Given the description of an element on the screen output the (x, y) to click on. 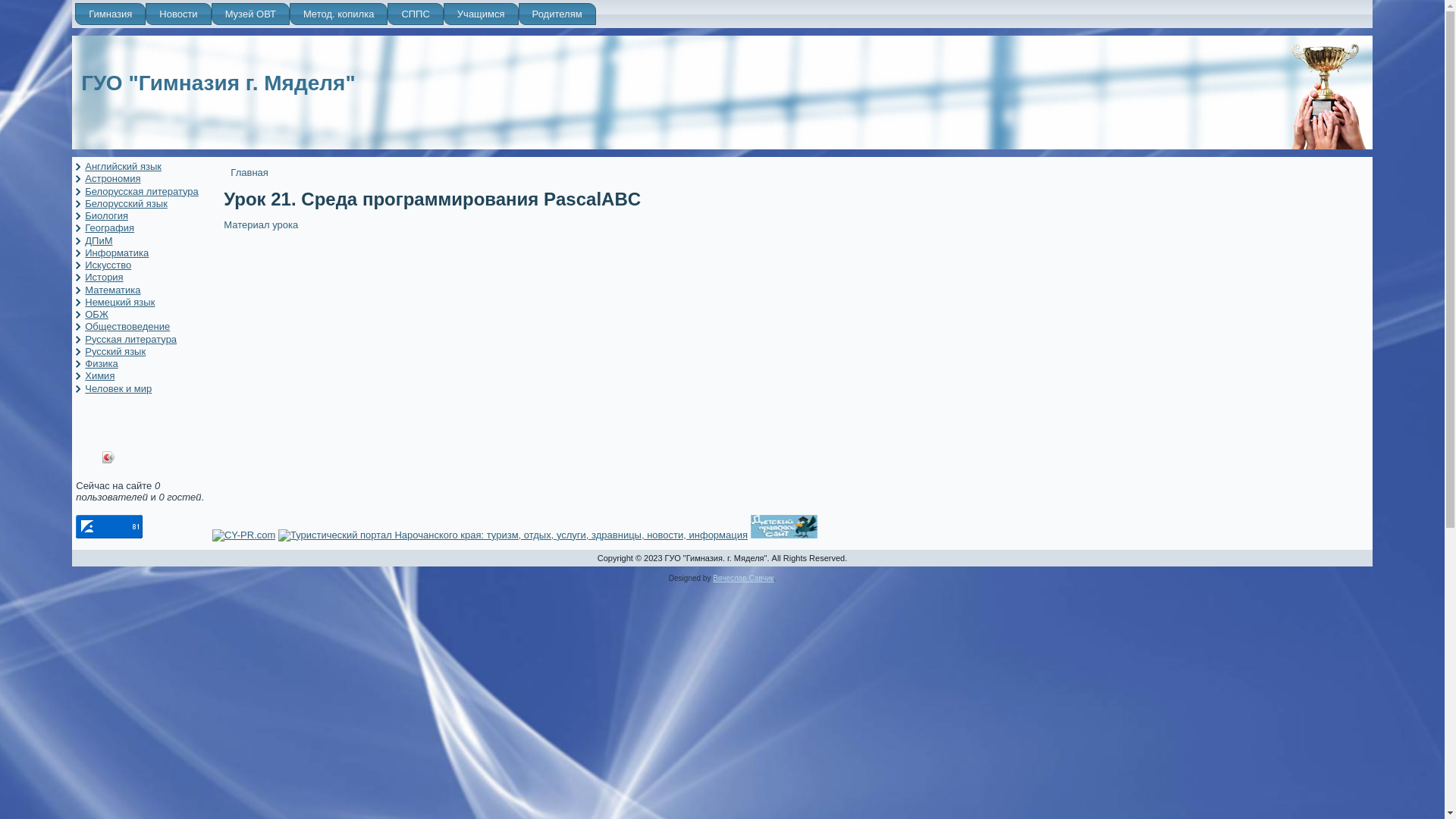
Facebook Element type: hover (140, 457)
Twitter Element type: hover (156, 457)
